Given the description of an element on the screen output the (x, y) to click on. 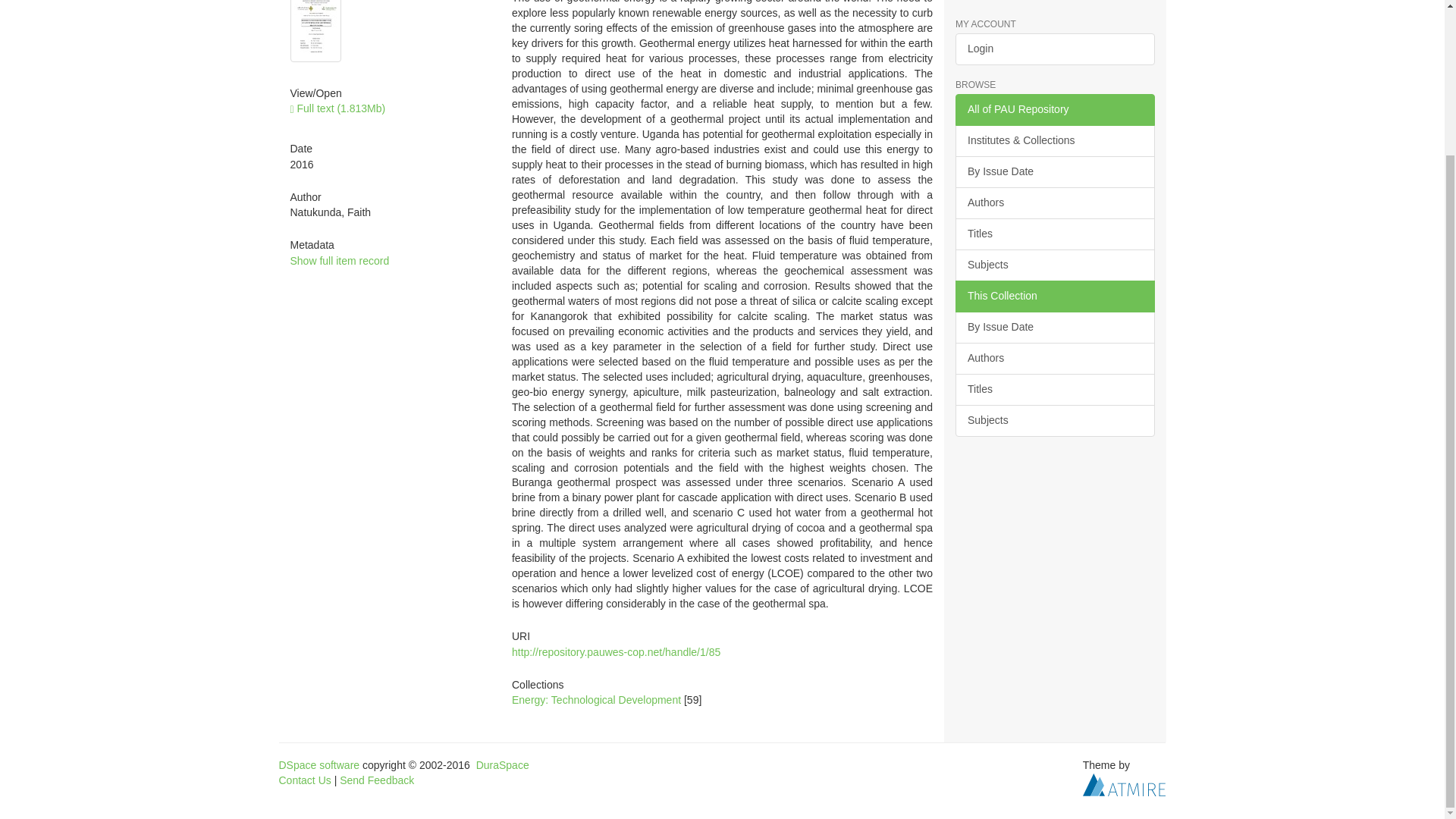
Titles (1054, 234)
This Collection (1054, 296)
Subjects (1054, 420)
Authors (1054, 203)
Show full item record (338, 260)
DSpace software (319, 765)
Titles (1054, 389)
Authors (1054, 358)
Energy: Technological Development (596, 699)
Subjects (1054, 265)
